Given the description of an element on the screen output the (x, y) to click on. 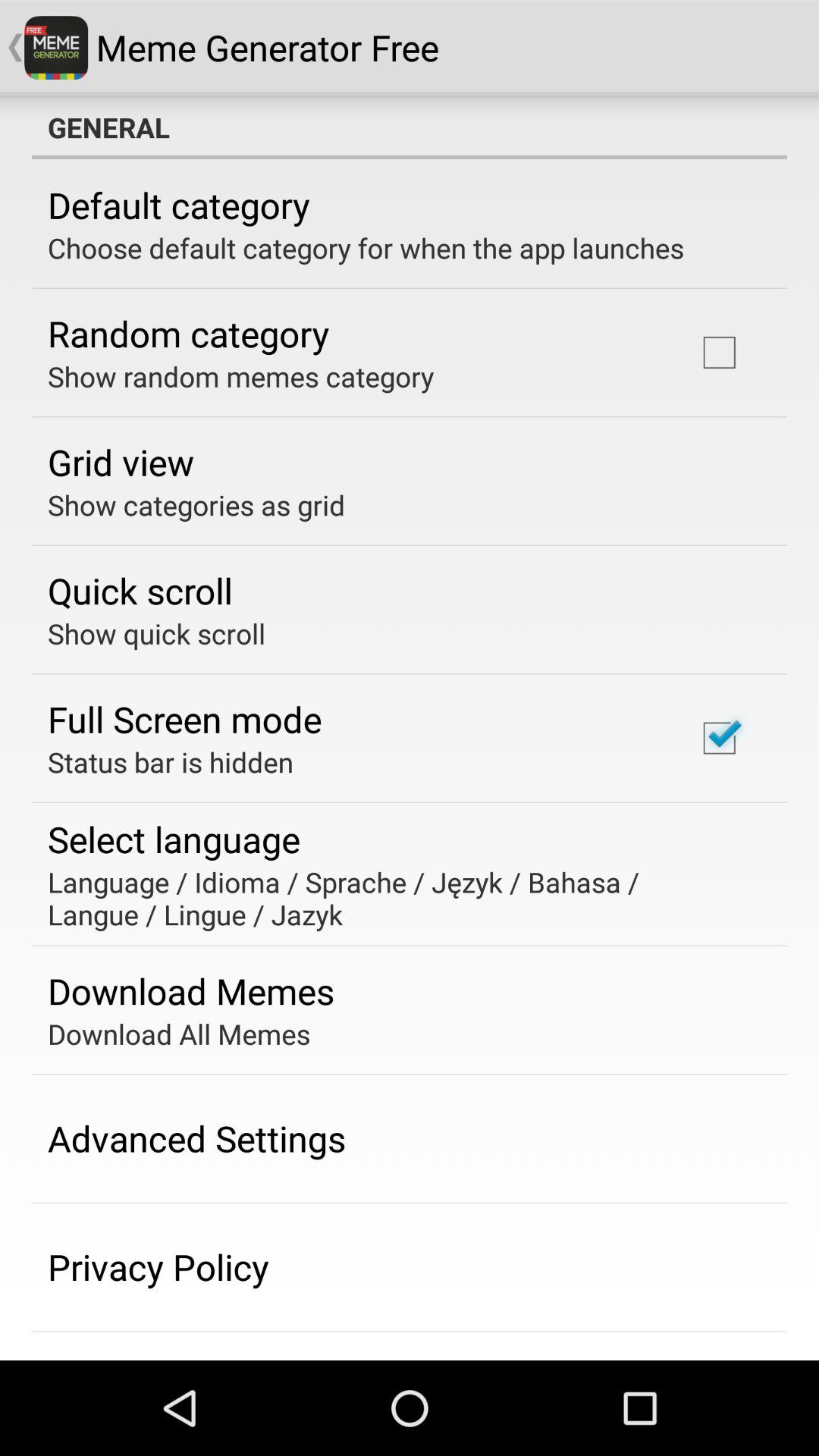
press item below select language item (399, 898)
